Given the description of an element on the screen output the (x, y) to click on. 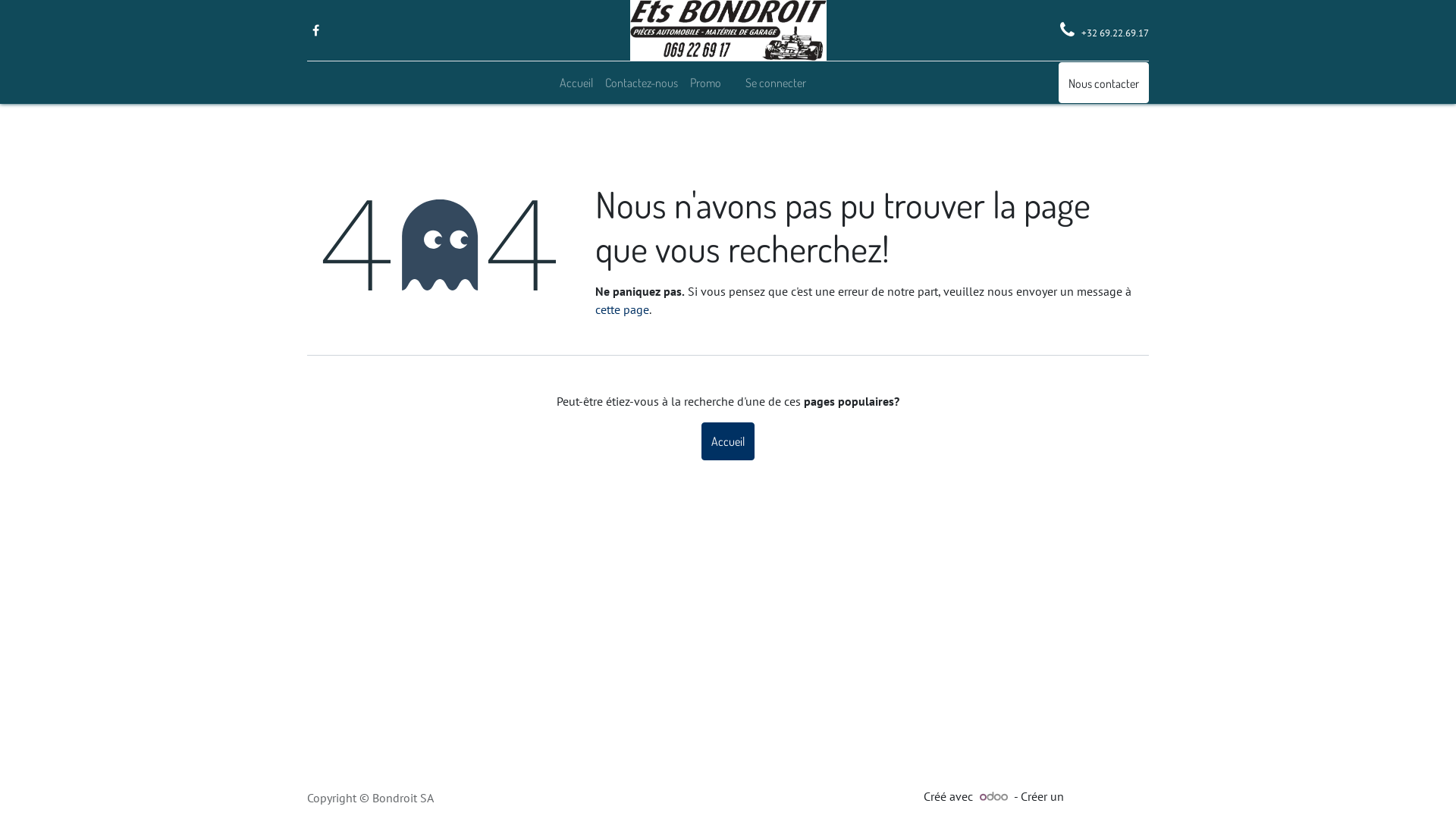
Contactez-nous Element type: text (641, 82)
Accueil Element type: text (727, 441)
Promo Element type: text (705, 82)
Site Web gratuit Element type: text (1107, 795)
Accueil Element type: text (576, 82)
Bondroit SA Element type: hover (727, 30)
 +32 69.22.69.17 Element type: text (1113, 31)
cette page Element type: text (622, 308)
Nous contacter Element type: text (1103, 82)
Se connecter Element type: text (775, 82)
